Given the description of an element on the screen output the (x, y) to click on. 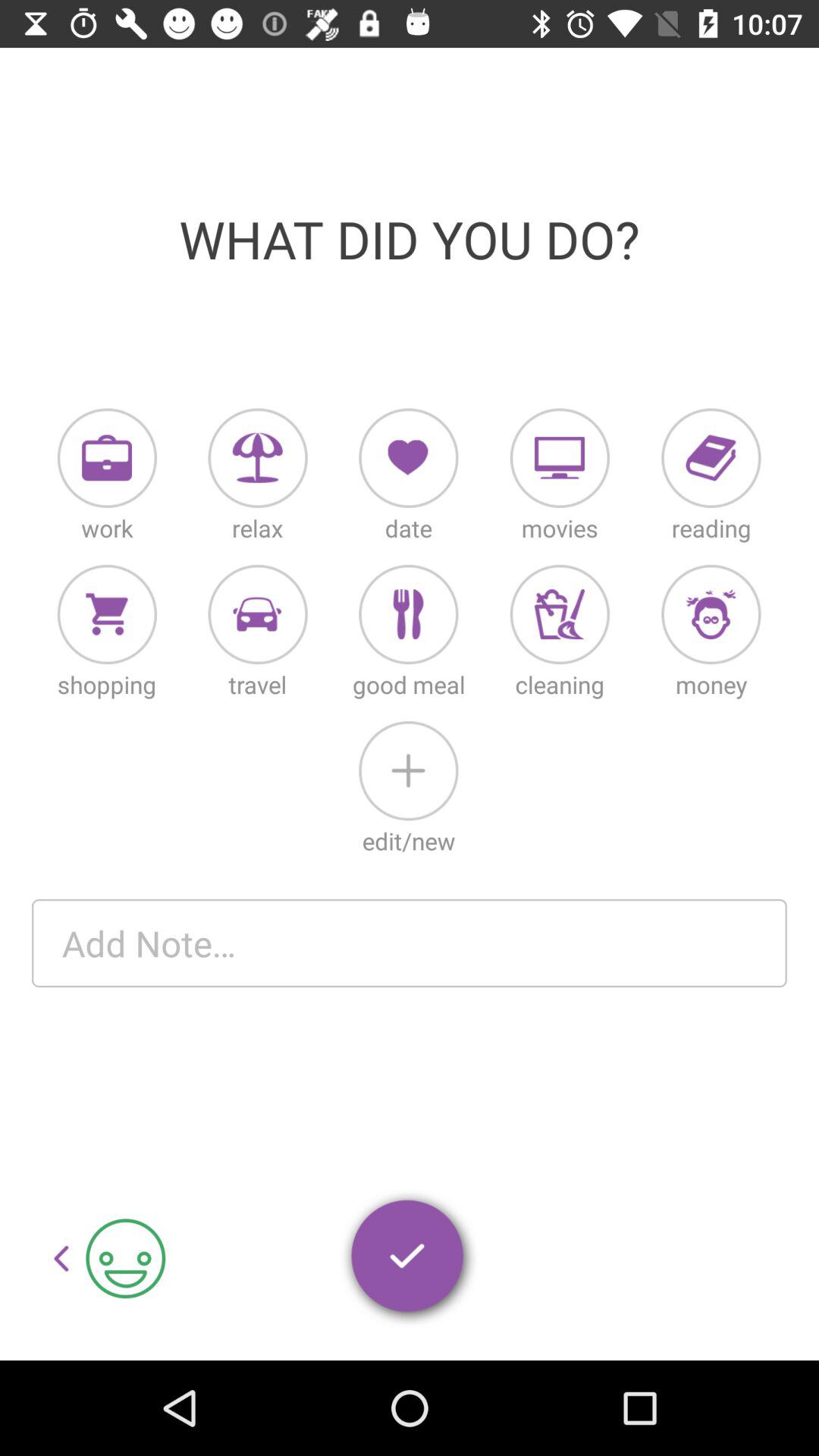
indicate you relaxed (257, 457)
